Given the description of an element on the screen output the (x, y) to click on. 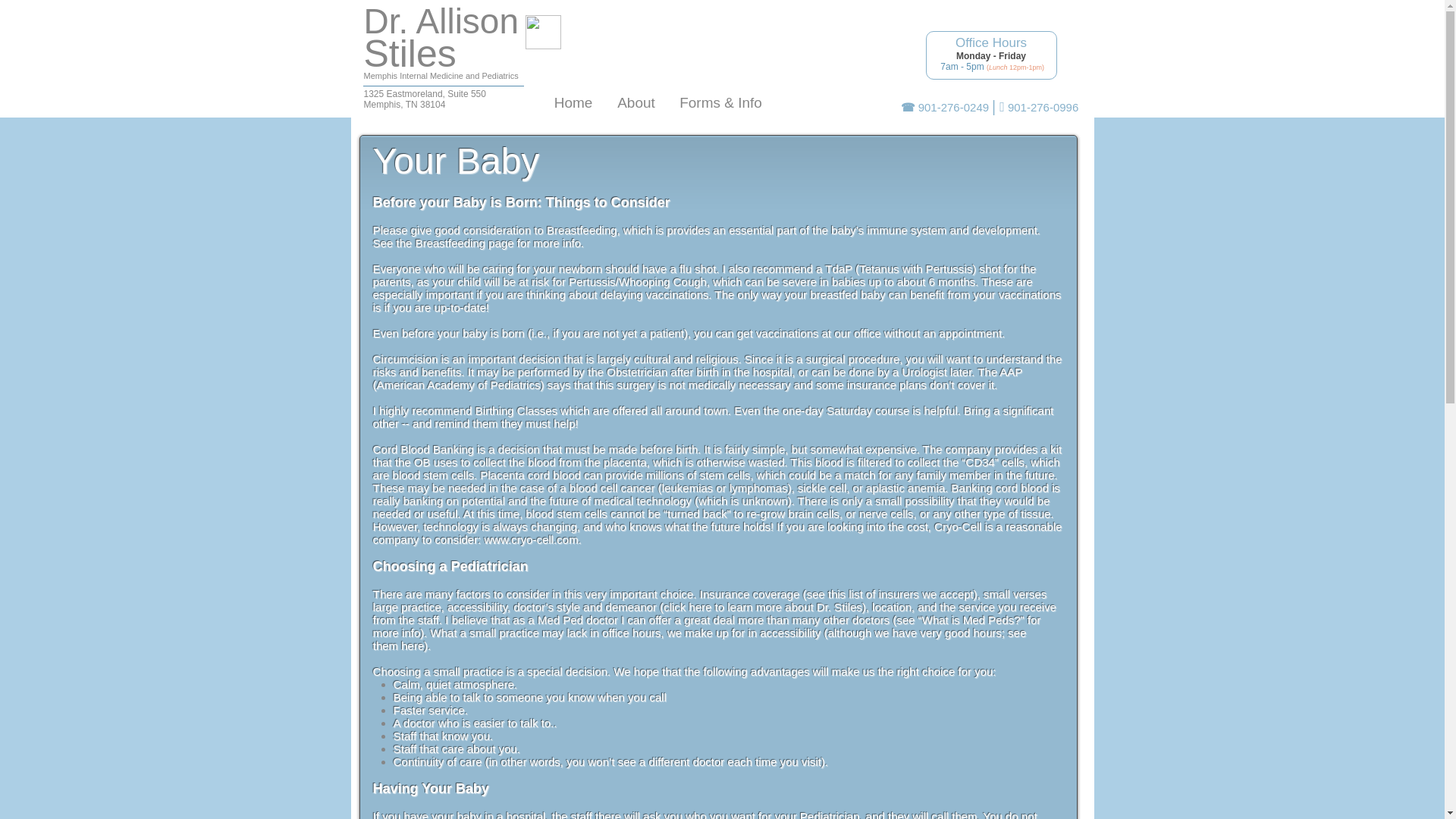
Dr. Allison (425, 98)
Stiles (441, 20)
About (410, 53)
Home (635, 103)
